Given the description of an element on the screen output the (x, y) to click on. 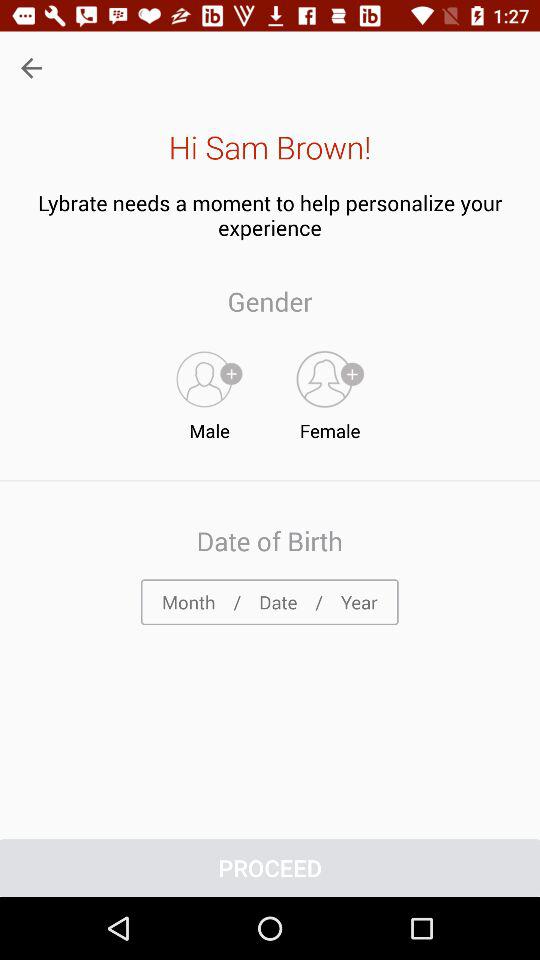
go back (31, 67)
